Given the description of an element on the screen output the (x, y) to click on. 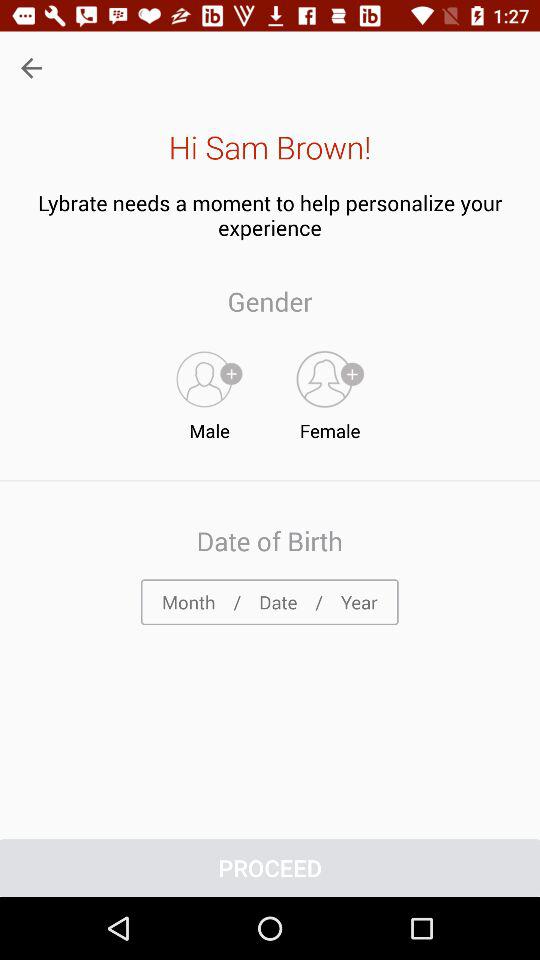
go back (31, 67)
